Given the description of an element on the screen output the (x, y) to click on. 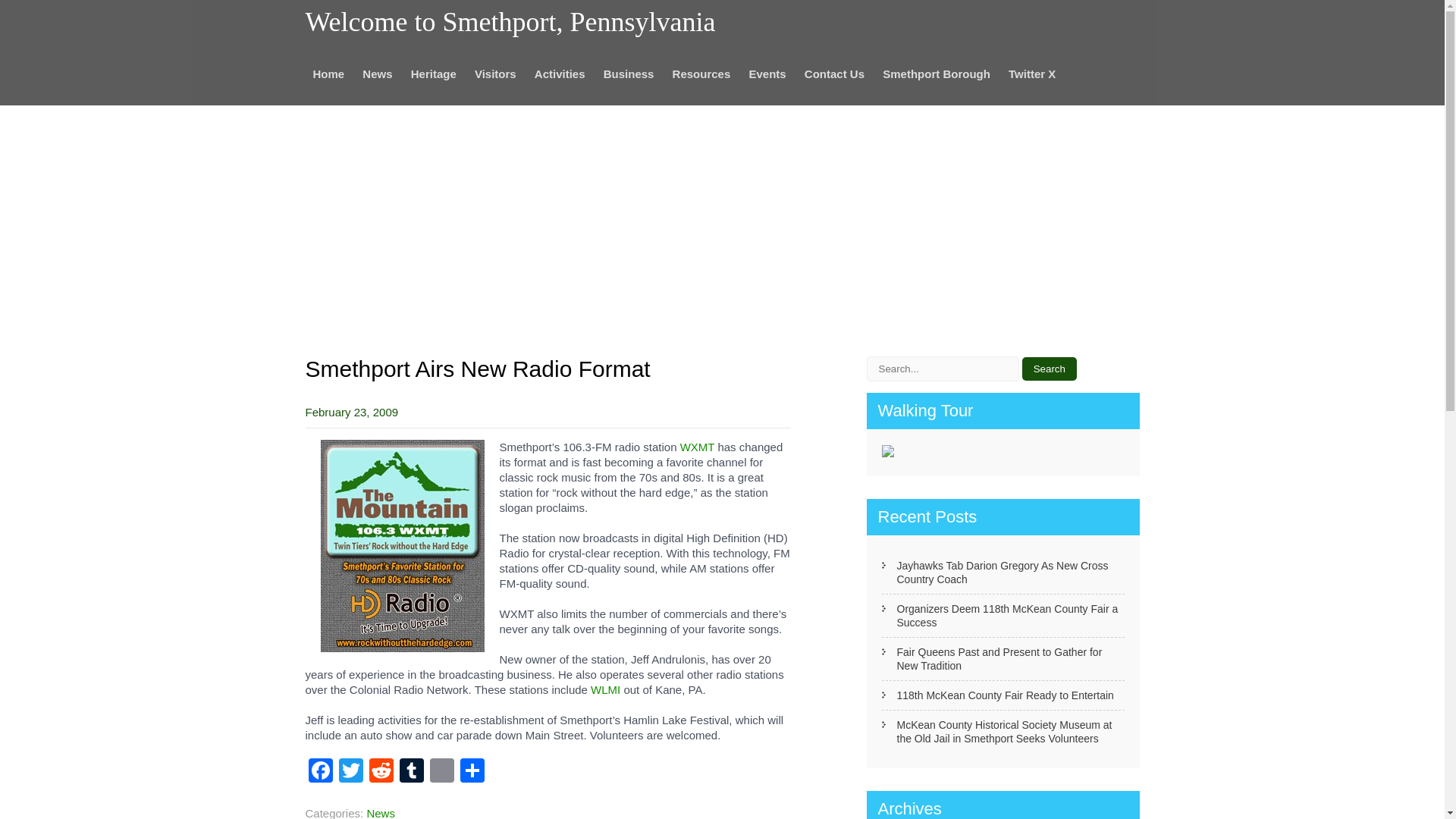
Email (441, 772)
Visitors (495, 74)
WLMI (605, 689)
Resources (701, 74)
Contact Us (834, 74)
Twitter X (1031, 74)
Facebook (319, 772)
Activities (559, 74)
Reddit (380, 772)
Tumblr (411, 772)
